Given the description of an element on the screen output the (x, y) to click on. 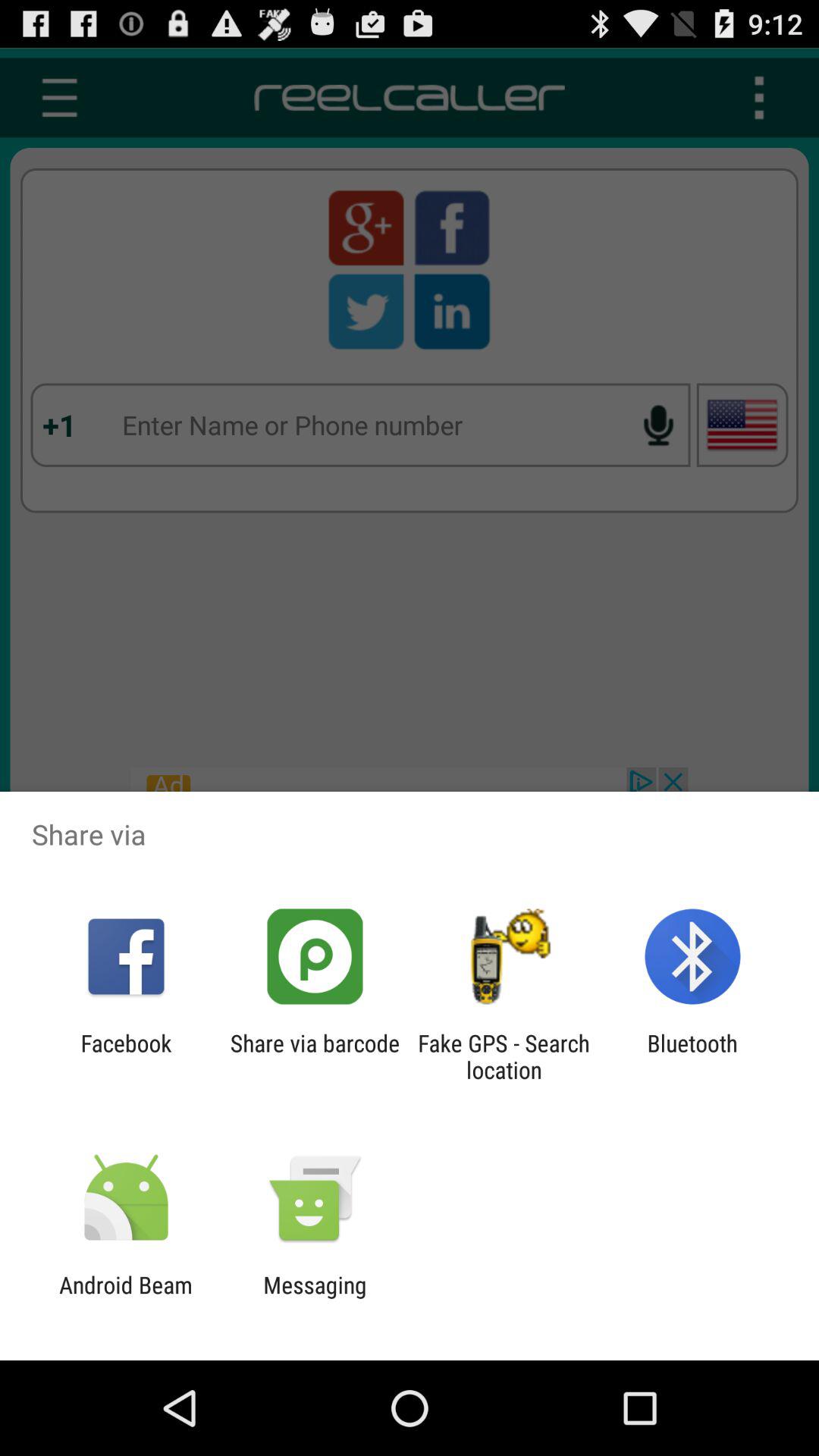
scroll to facebook app (125, 1056)
